Given the description of an element on the screen output the (x, y) to click on. 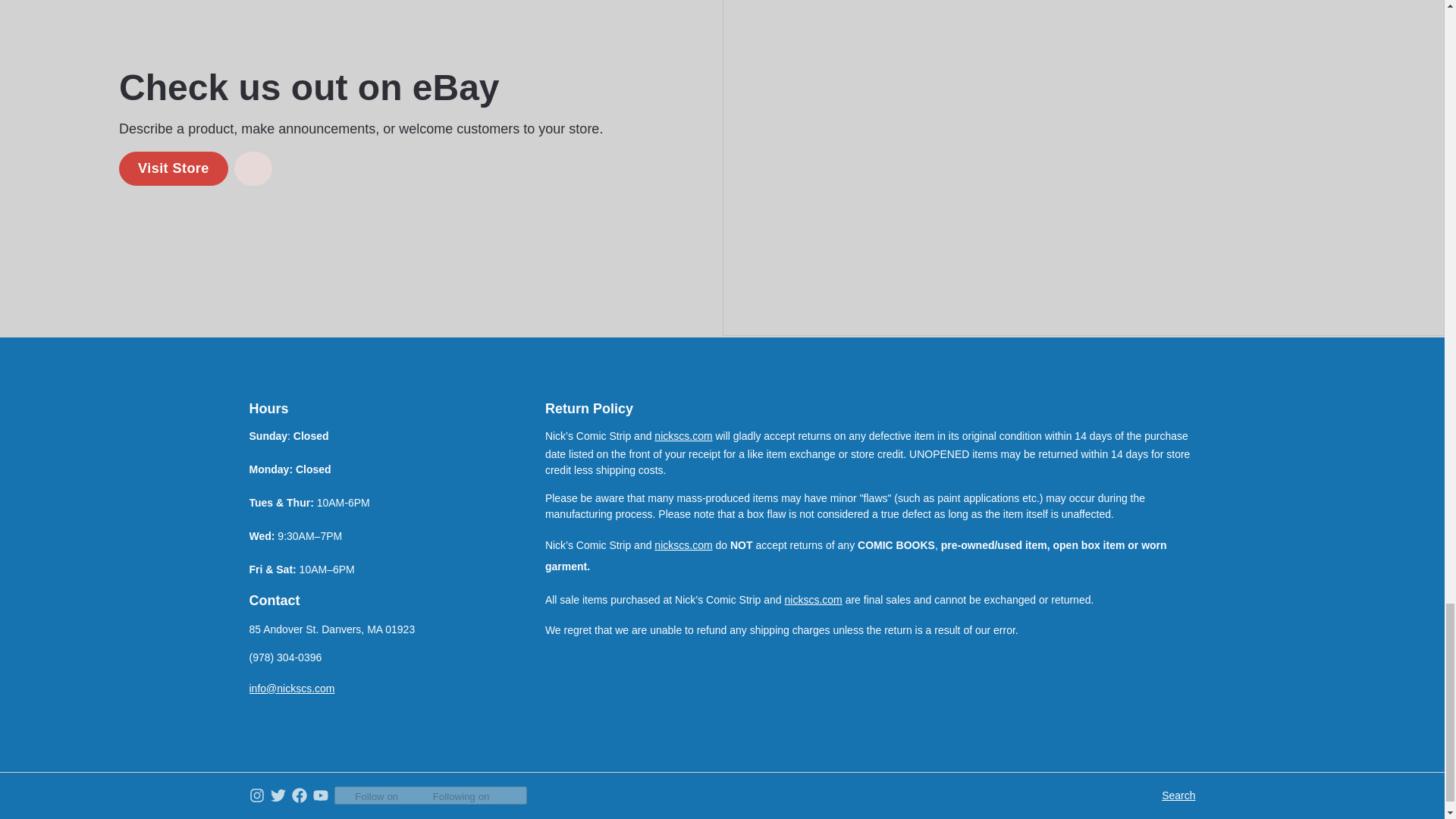
Facebook (298, 794)
Twitter (277, 794)
Instagram (255, 794)
YouTube (320, 794)
